Given the description of an element on the screen output the (x, y) to click on. 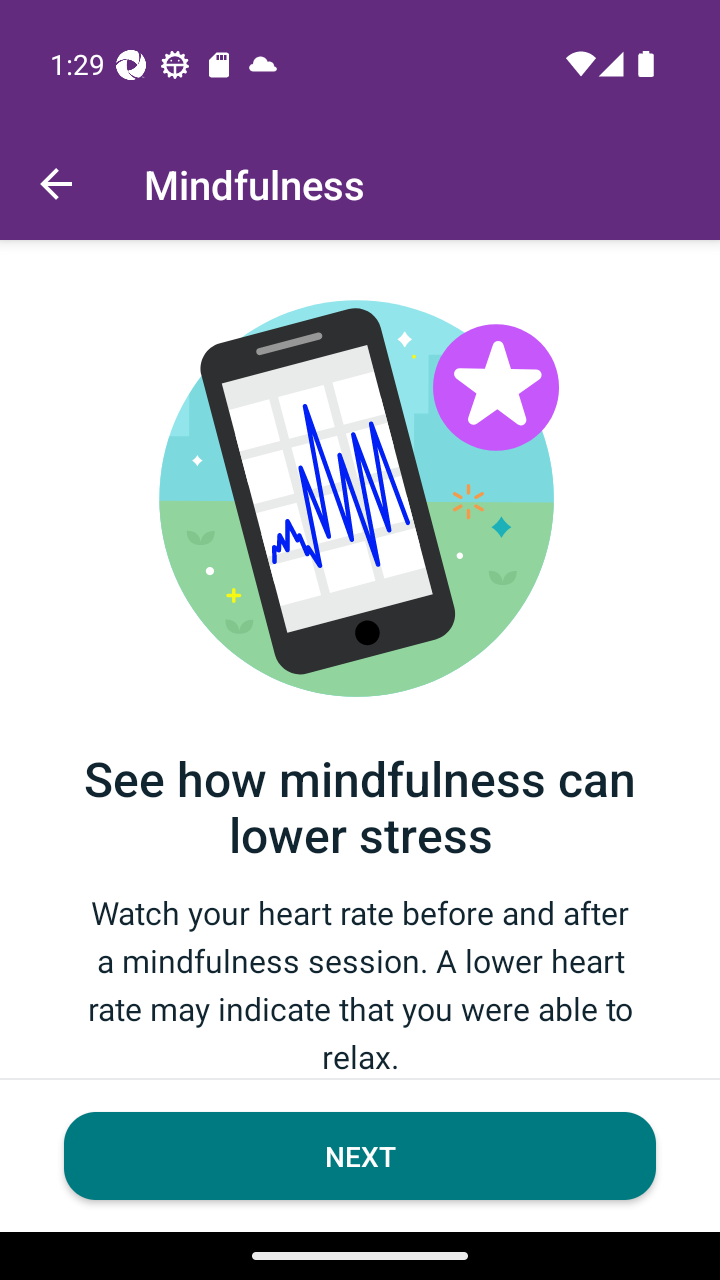
Navigate up (56, 184)
NEXT (359, 1156)
